Given the description of an element on the screen output the (x, y) to click on. 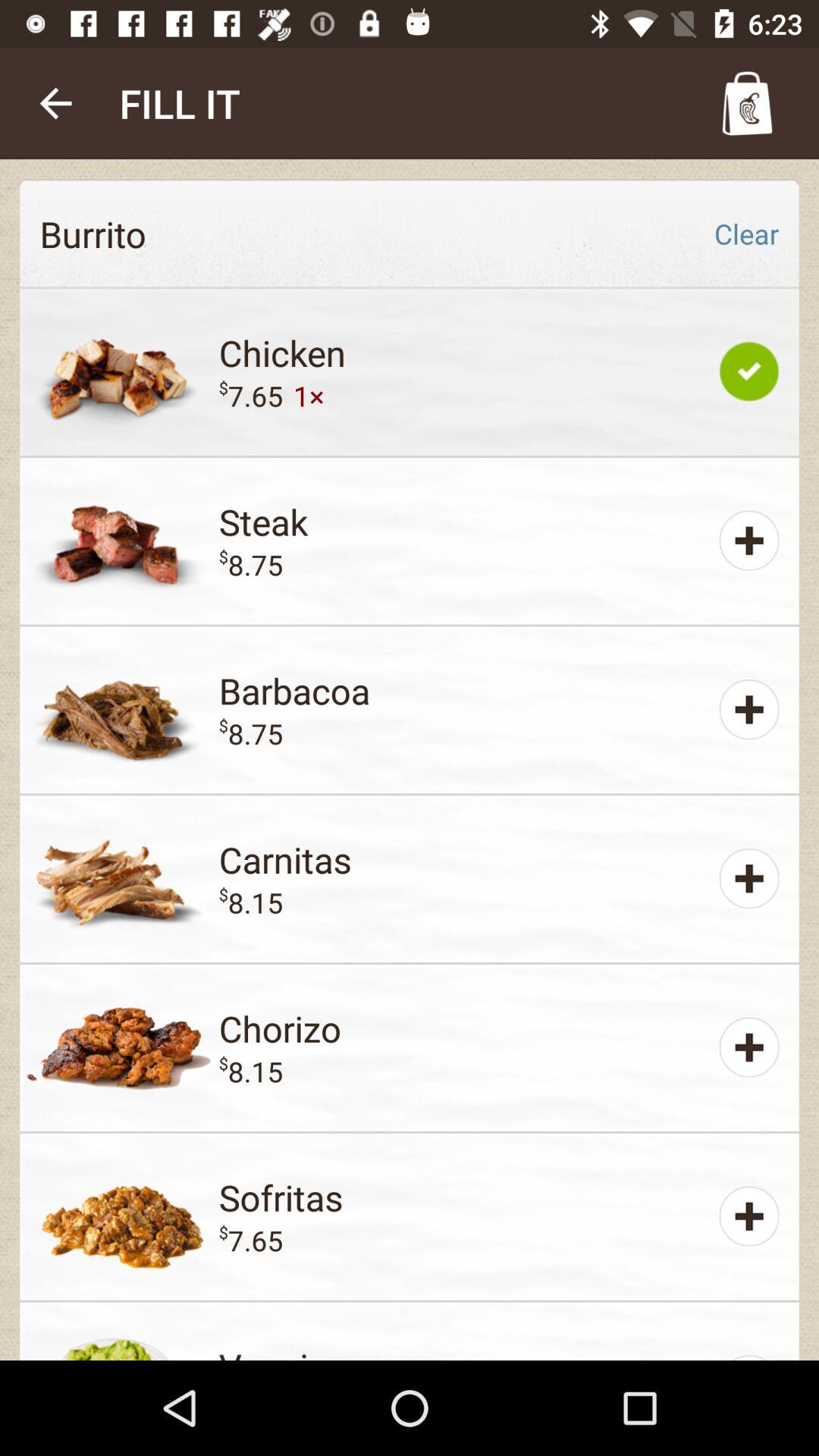
turn on icon to the left of the fill it app (55, 103)
